Given the description of an element on the screen output the (x, y) to click on. 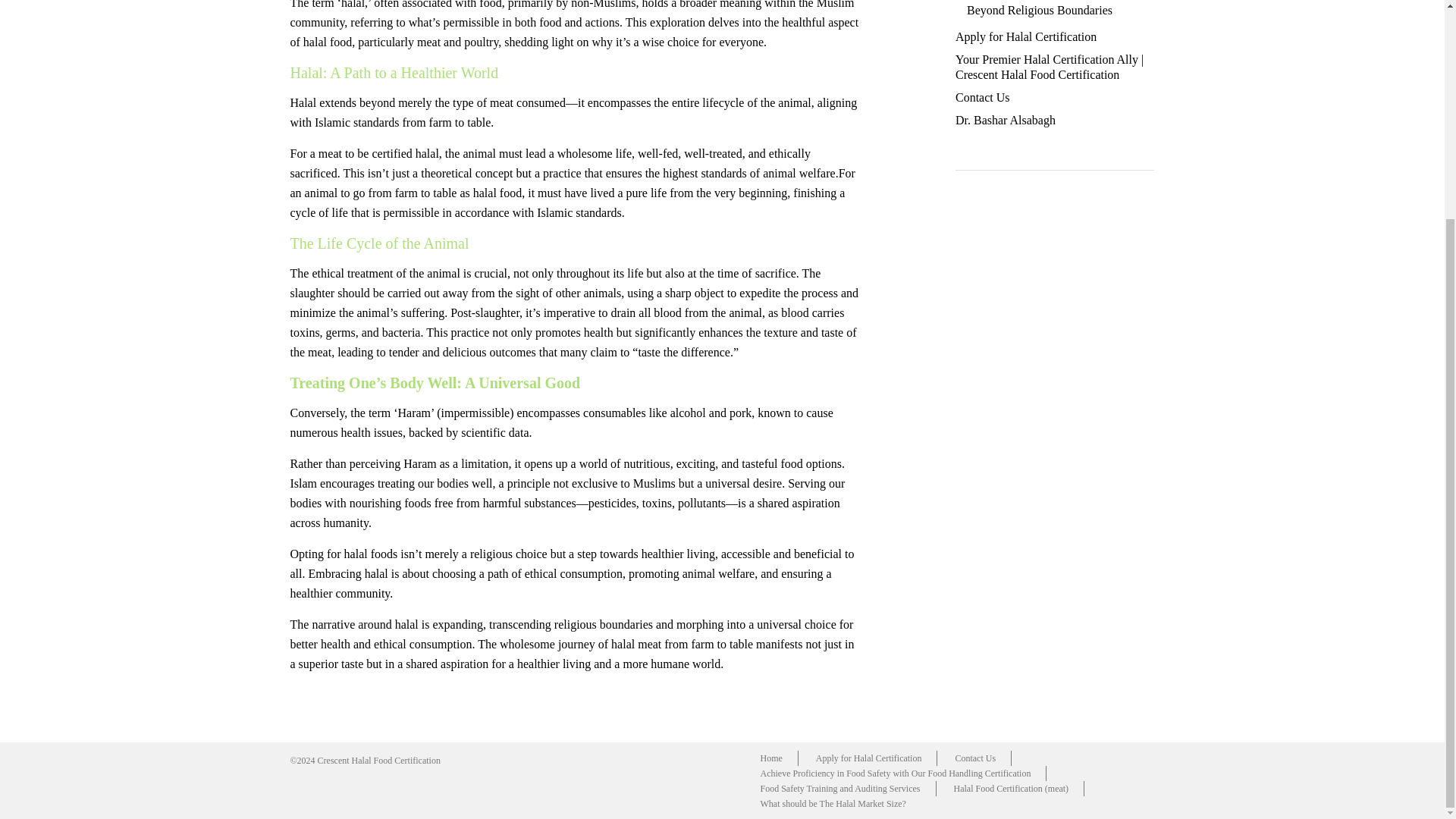
Apply for Halal Certification (869, 758)
Dr. Bashar Alsabagh (1005, 119)
What should be The Halal Market Size? (833, 803)
Contact Us (974, 758)
Home (771, 758)
Contact Us (982, 97)
Apply for Halal Certification (1025, 36)
Food Safety Training and Auditing Services (840, 788)
